Given the description of an element on the screen output the (x, y) to click on. 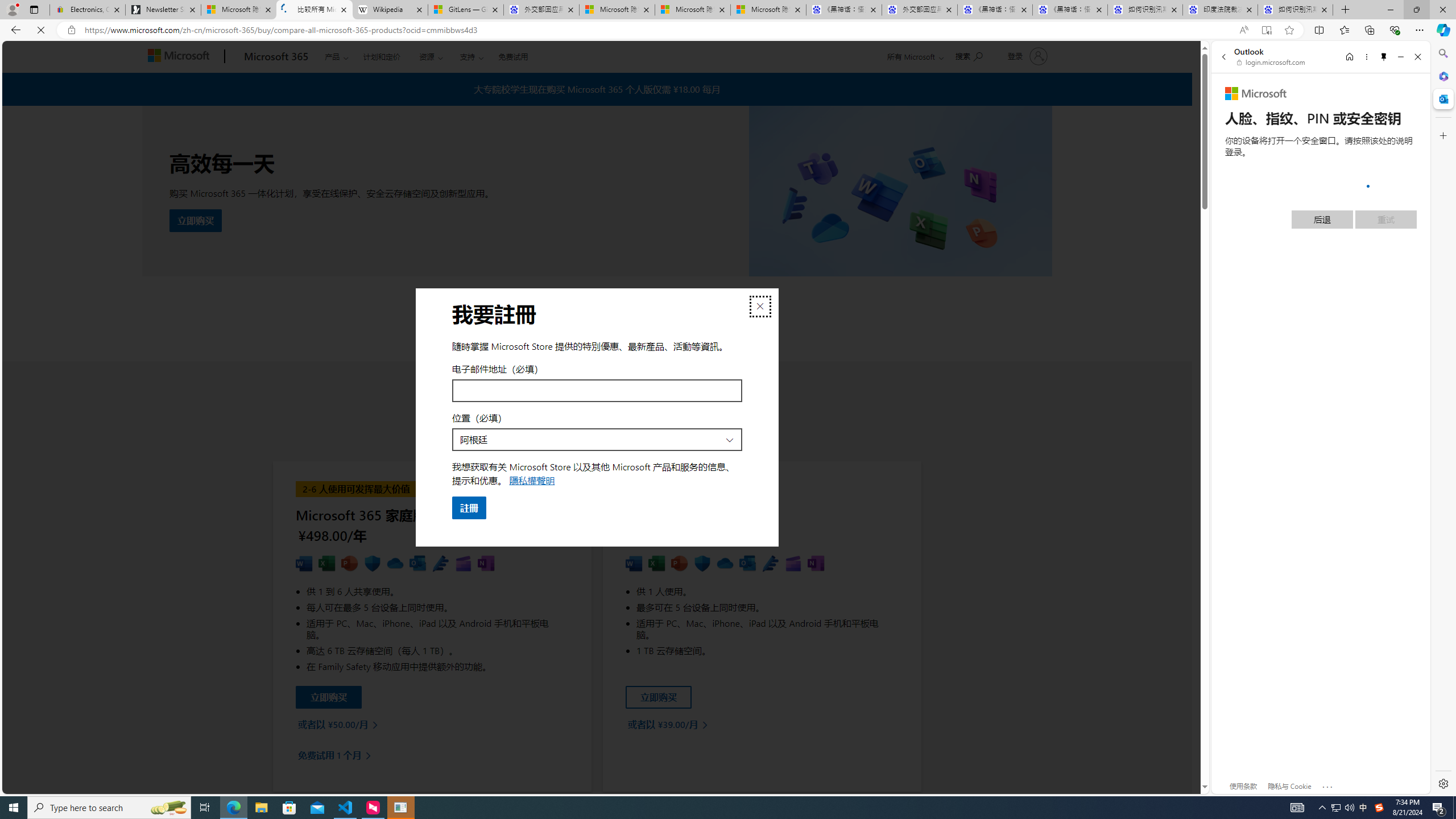
login.microsoft.com (1271, 61)
Wikipedia (389, 9)
